Given the description of an element on the screen output the (x, y) to click on. 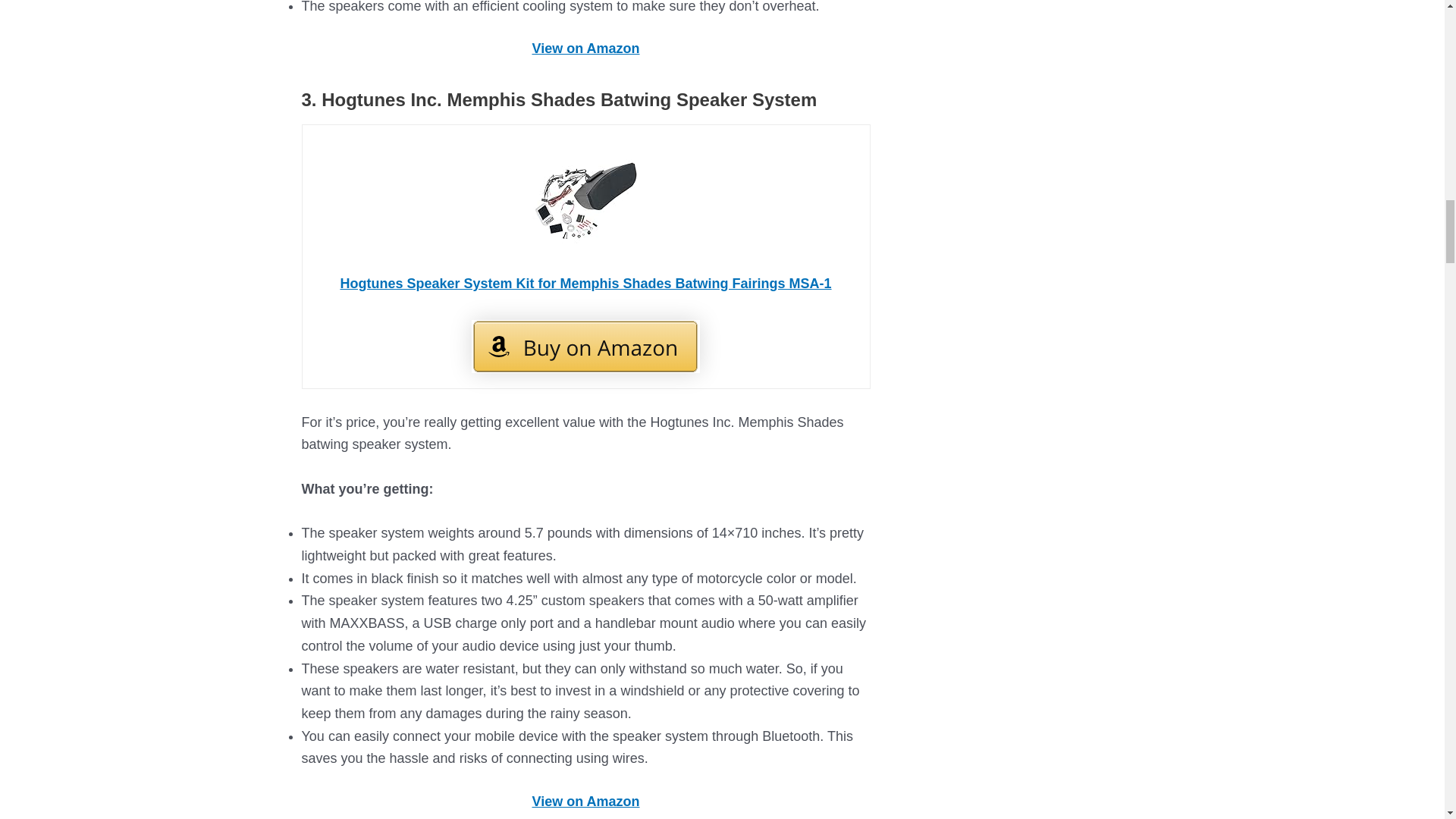
View on Amazon (585, 48)
View on Amazon (585, 801)
Buy On Amazon (585, 346)
